Given the description of an element on the screen output the (x, y) to click on. 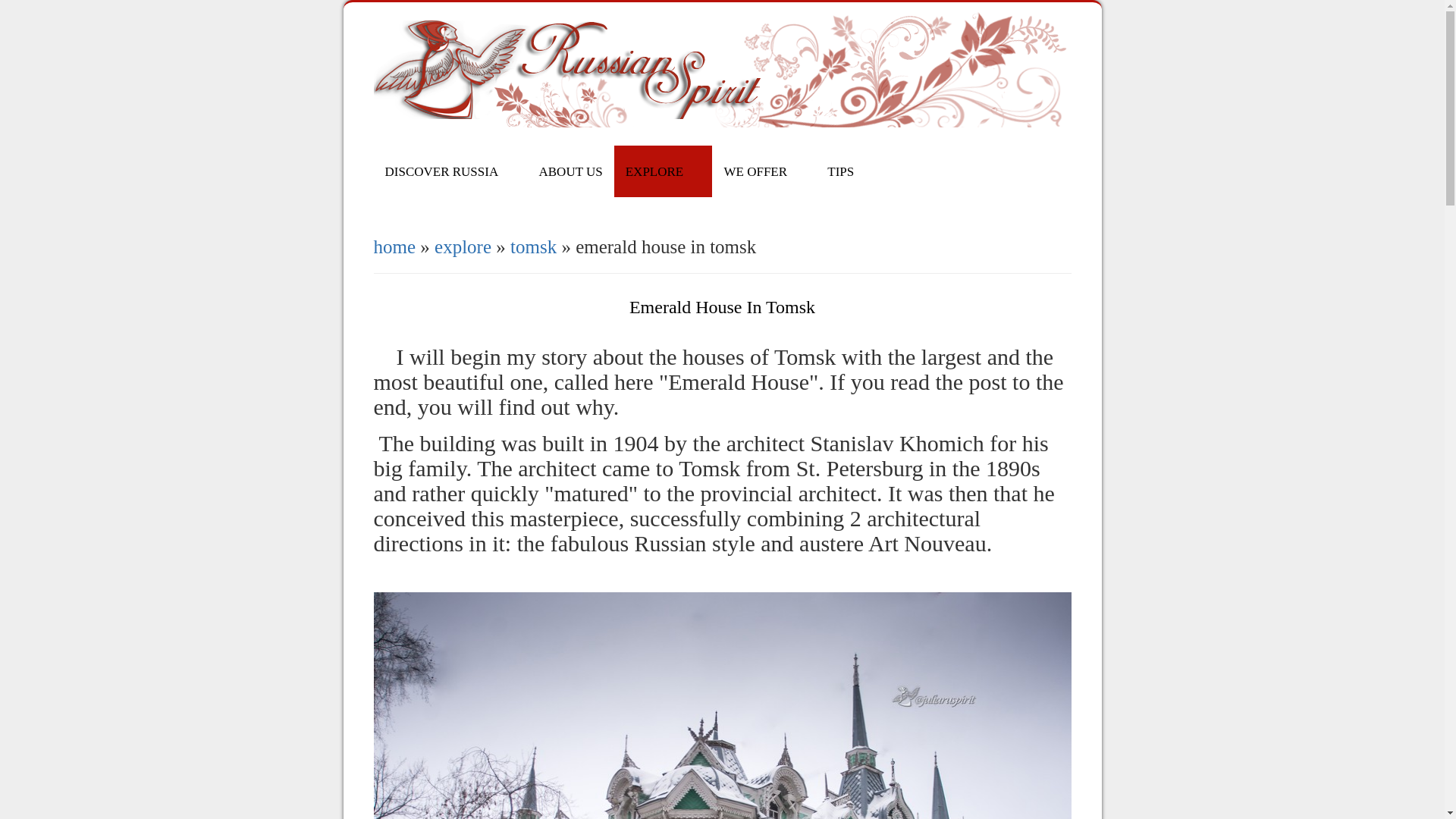
ABOUT US (569, 171)
Home (725, 119)
